Given the description of an element on the screen output the (x, y) to click on. 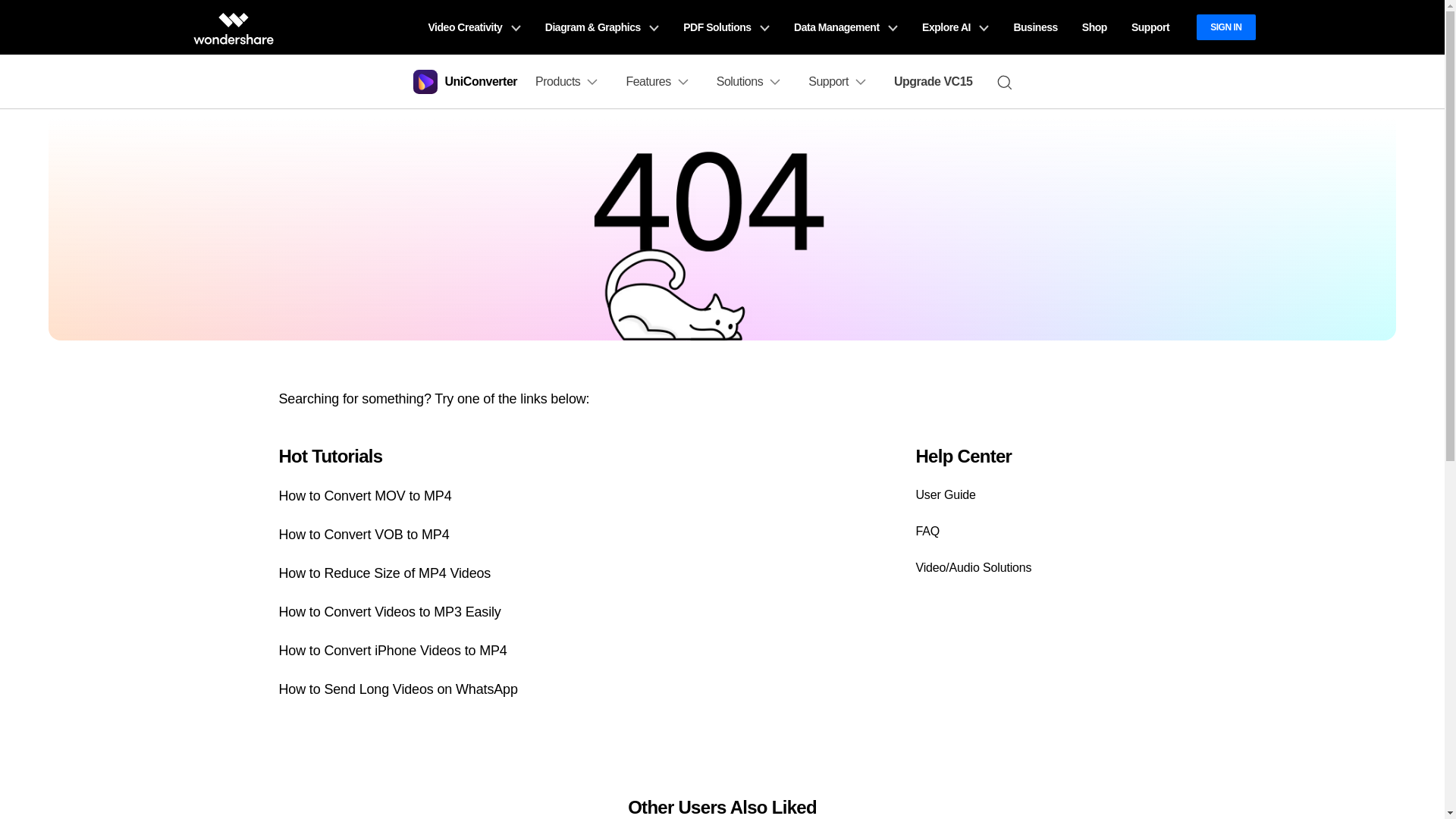
PDF Solutions (726, 27)
Data Management (845, 27)
Video Creativity (473, 27)
Explore AI (955, 27)
